Given the description of an element on the screen output the (x, y) to click on. 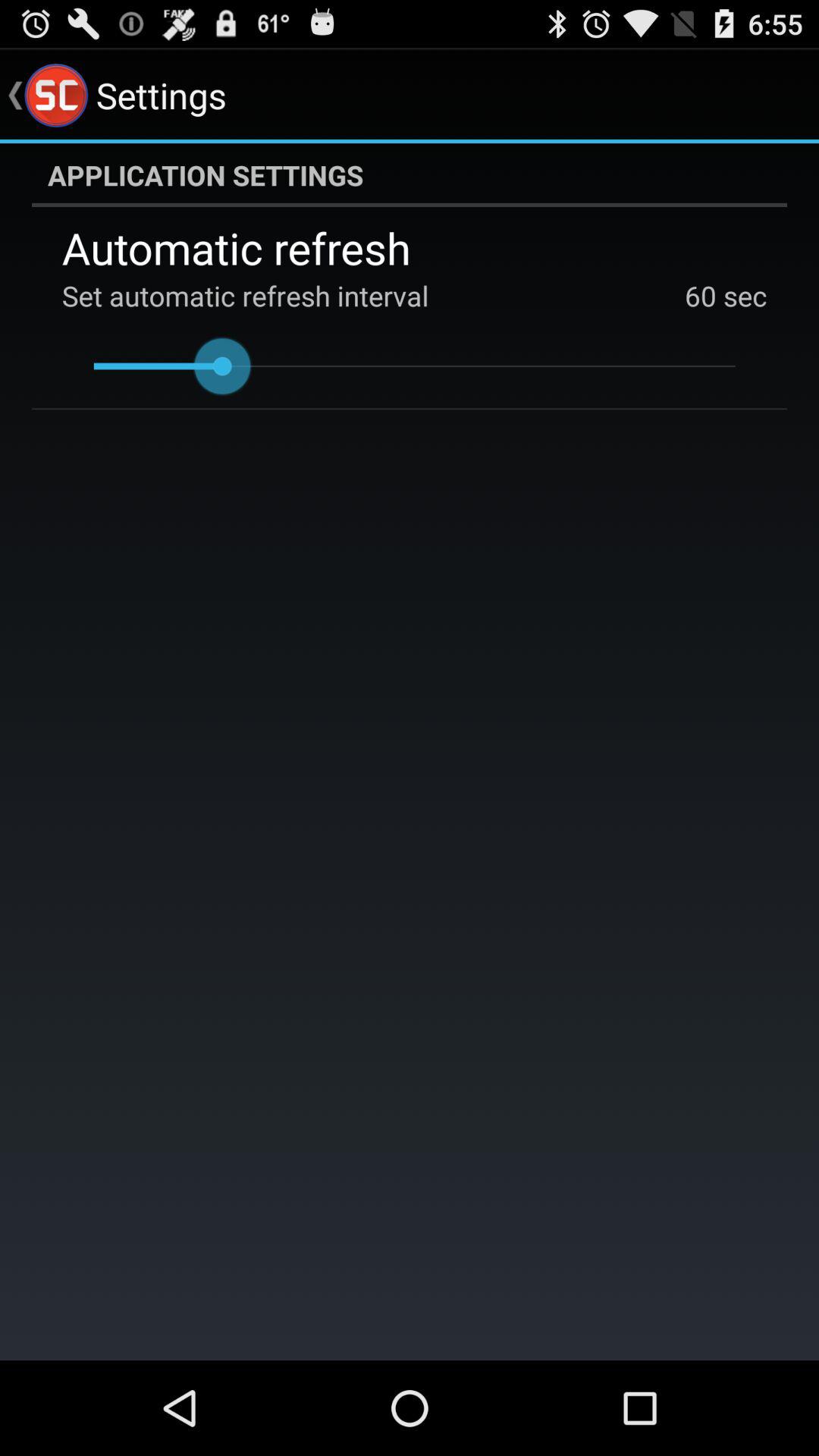
tap the app below automatic refresh (741, 295)
